Given the description of an element on the screen output the (x, y) to click on. 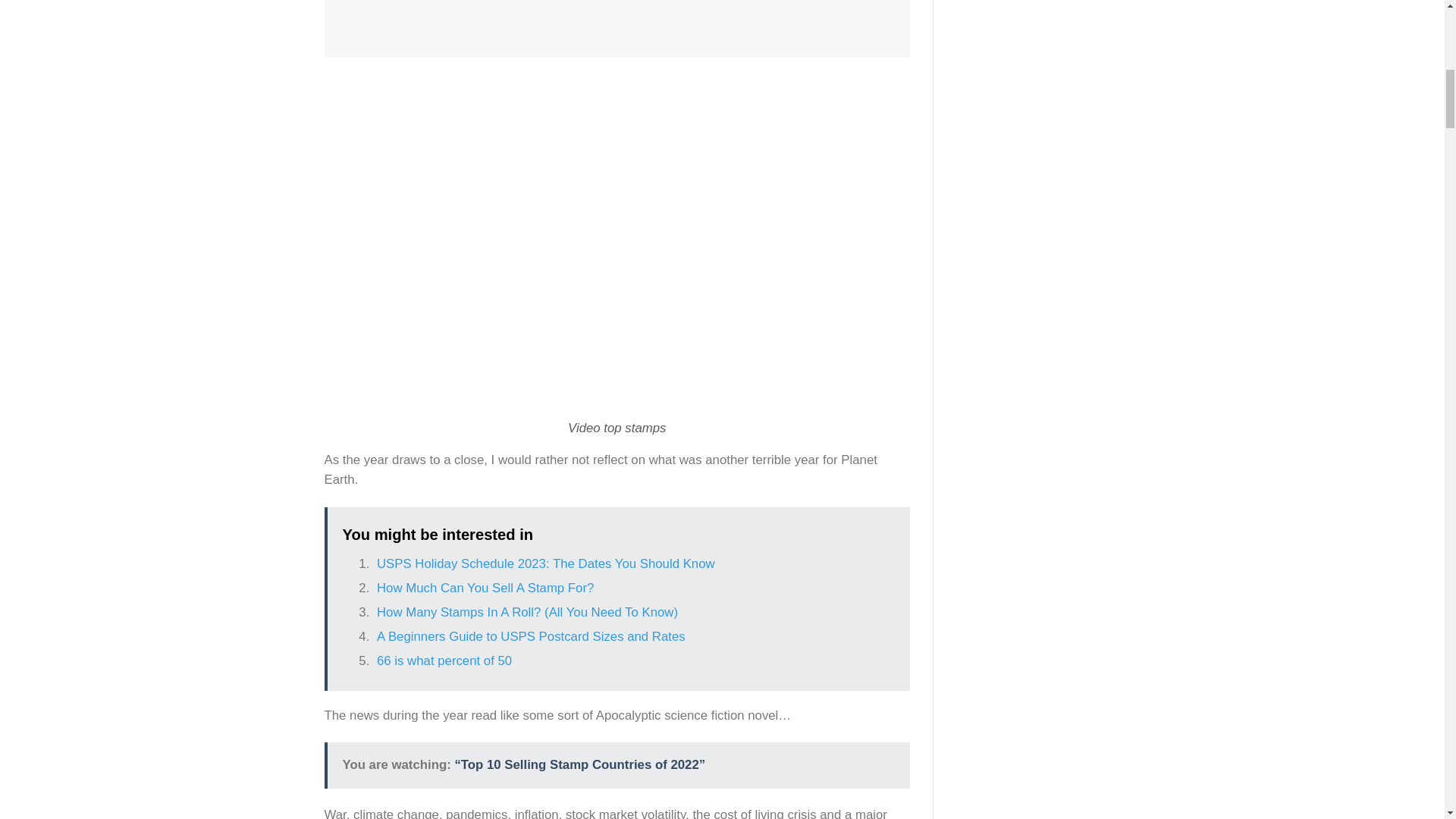
A Beginners Guide to USPS Postcard Sizes and Rates (531, 636)
66 is what percent of 50 (444, 660)
USPS Holiday Schedule 2023: The Dates You Should Know (545, 563)
How Much Can You Sell A Stamp For? (485, 587)
USPS Holiday Schedule 2023: The Dates You Should Know (545, 563)
66 is what percent of 50 (444, 660)
How Much Can You Sell A Stamp For? (485, 587)
A Beginners Guide to USPS Postcard Sizes and Rates (531, 636)
